Given the description of an element on the screen output the (x, y) to click on. 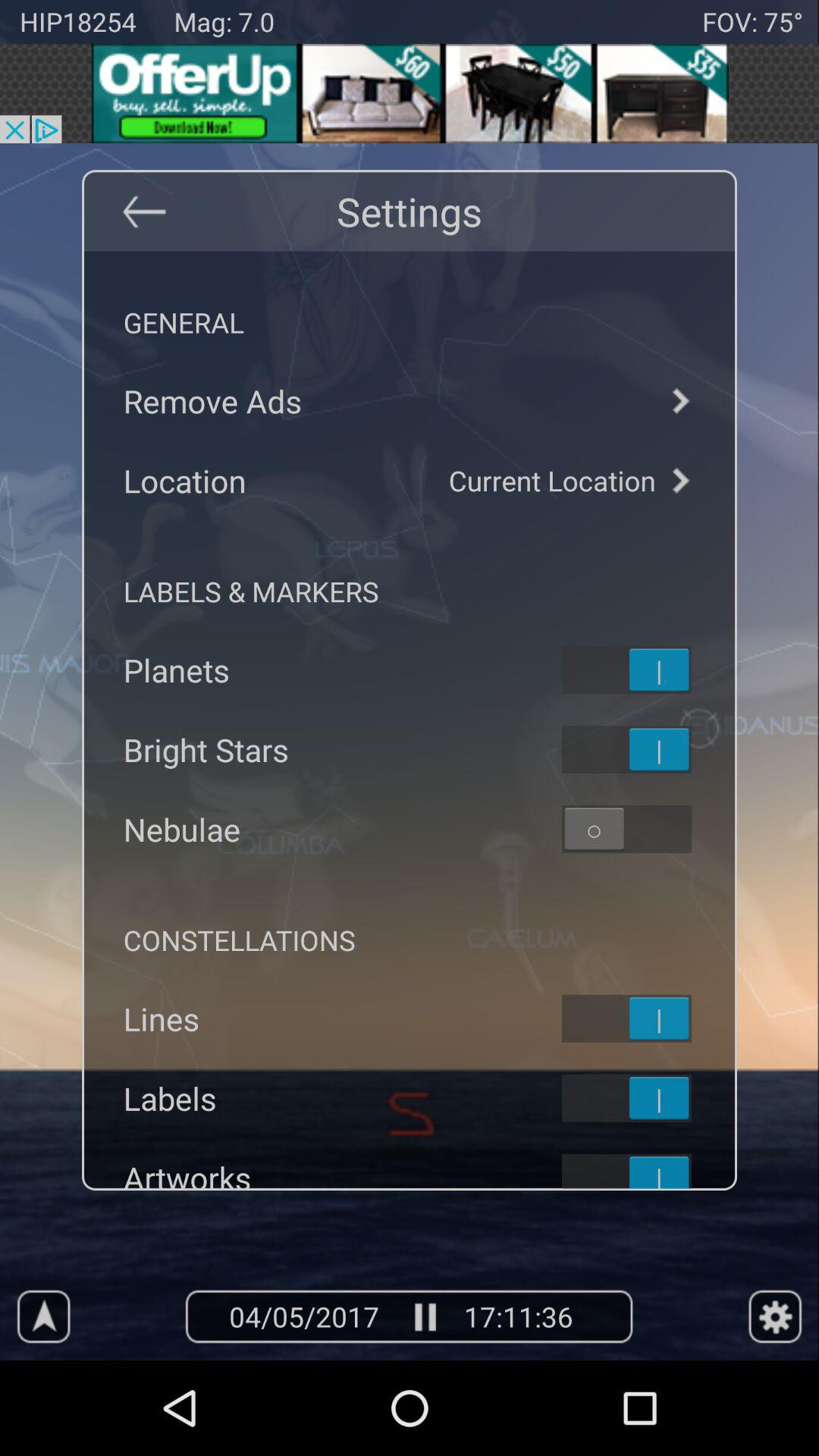
on off (646, 669)
